Given the description of an element on the screen output the (x, y) to click on. 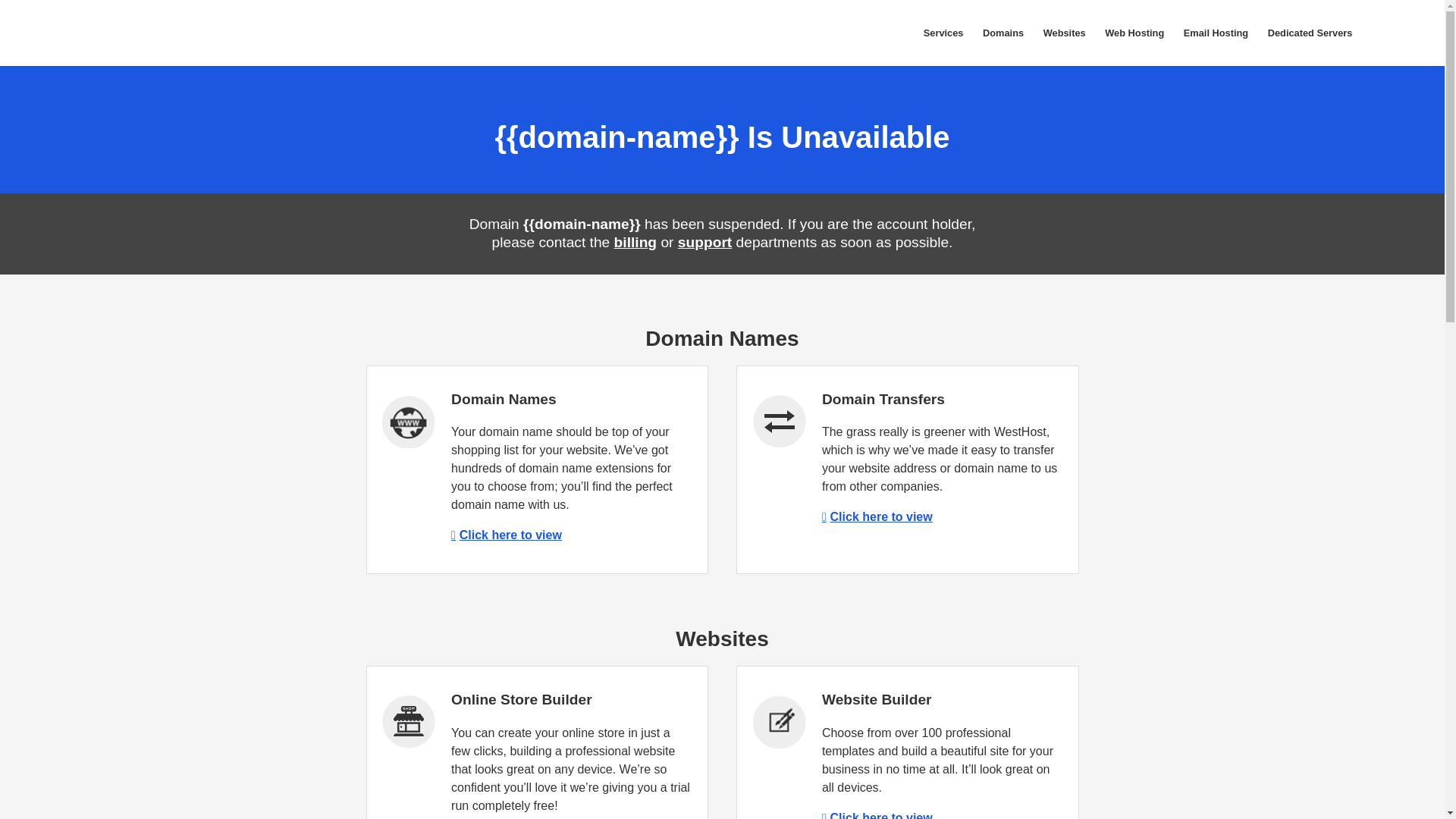
Domains (1002, 32)
Click here to view (506, 534)
billing (636, 242)
Email Hosting (1215, 32)
Click here to view (877, 516)
Websites (1064, 32)
support (705, 242)
Services (943, 32)
Dedicated Servers (1309, 32)
Web Hosting (1133, 32)
